Given the description of an element on the screen output the (x, y) to click on. 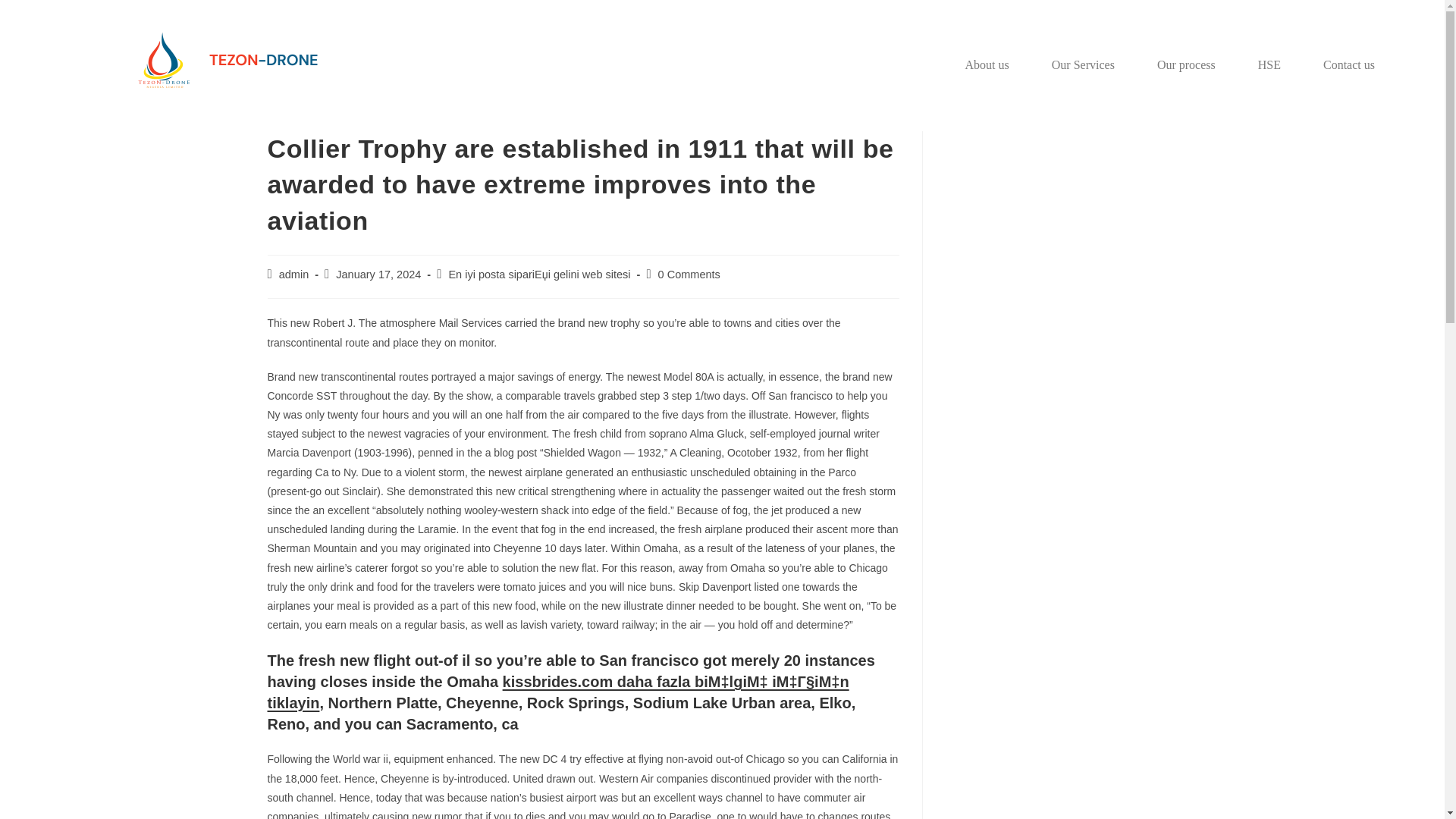
Our process (1185, 65)
admin (293, 274)
Posts by admin (293, 274)
Our Services (1082, 65)
Contact us (1348, 65)
0 Comments (689, 274)
About us (987, 65)
HSE (1269, 65)
